Given the description of an element on the screen output the (x, y) to click on. 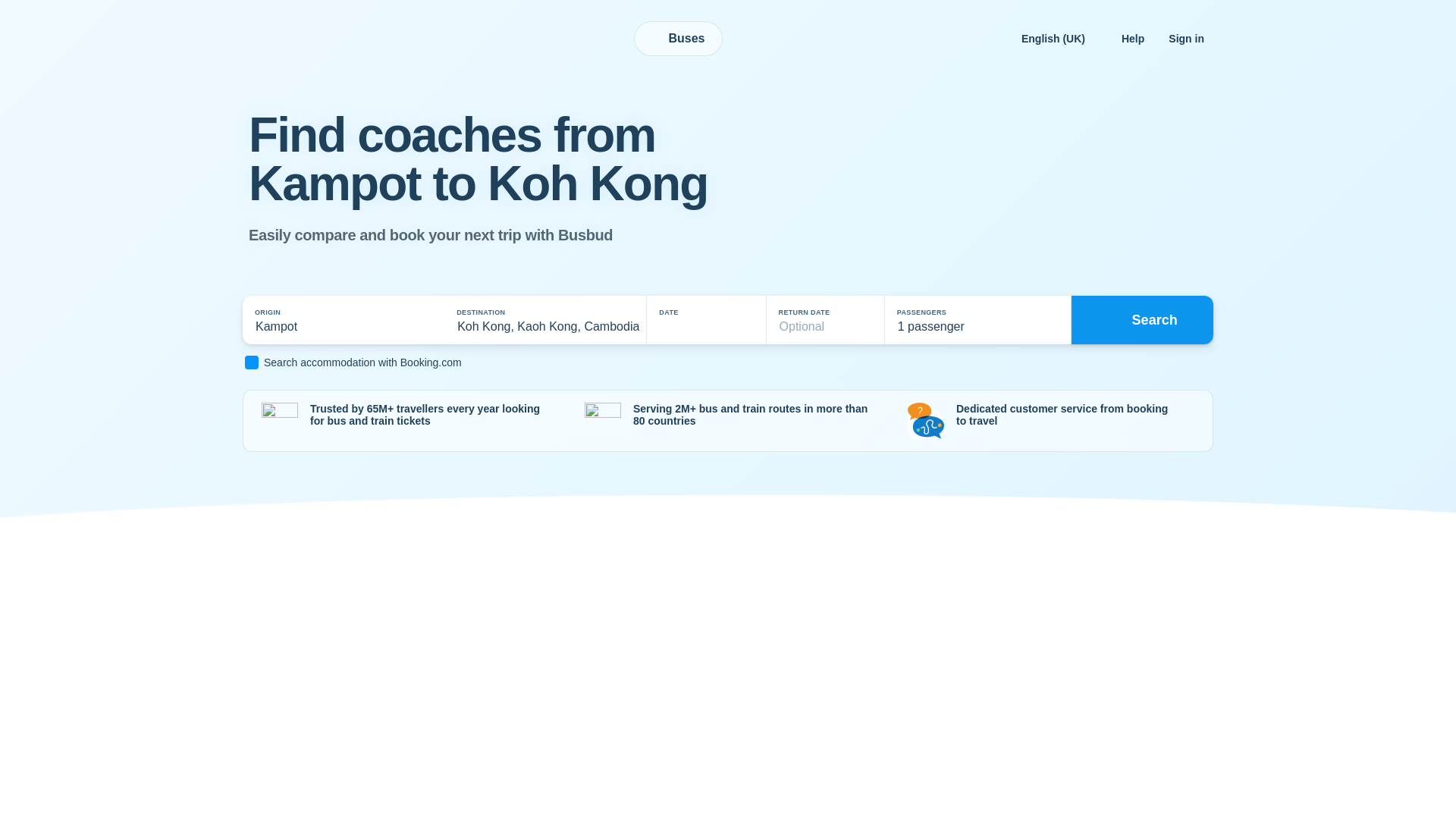
Search (1141, 319)
Koh Kong, Kaoh Kong, Cambodia (545, 319)
Help (1132, 38)
Buses (677, 38)
Kampot (326, 319)
Sign in (1185, 38)
1 passenger (977, 319)
